Given the description of an element on the screen output the (x, y) to click on. 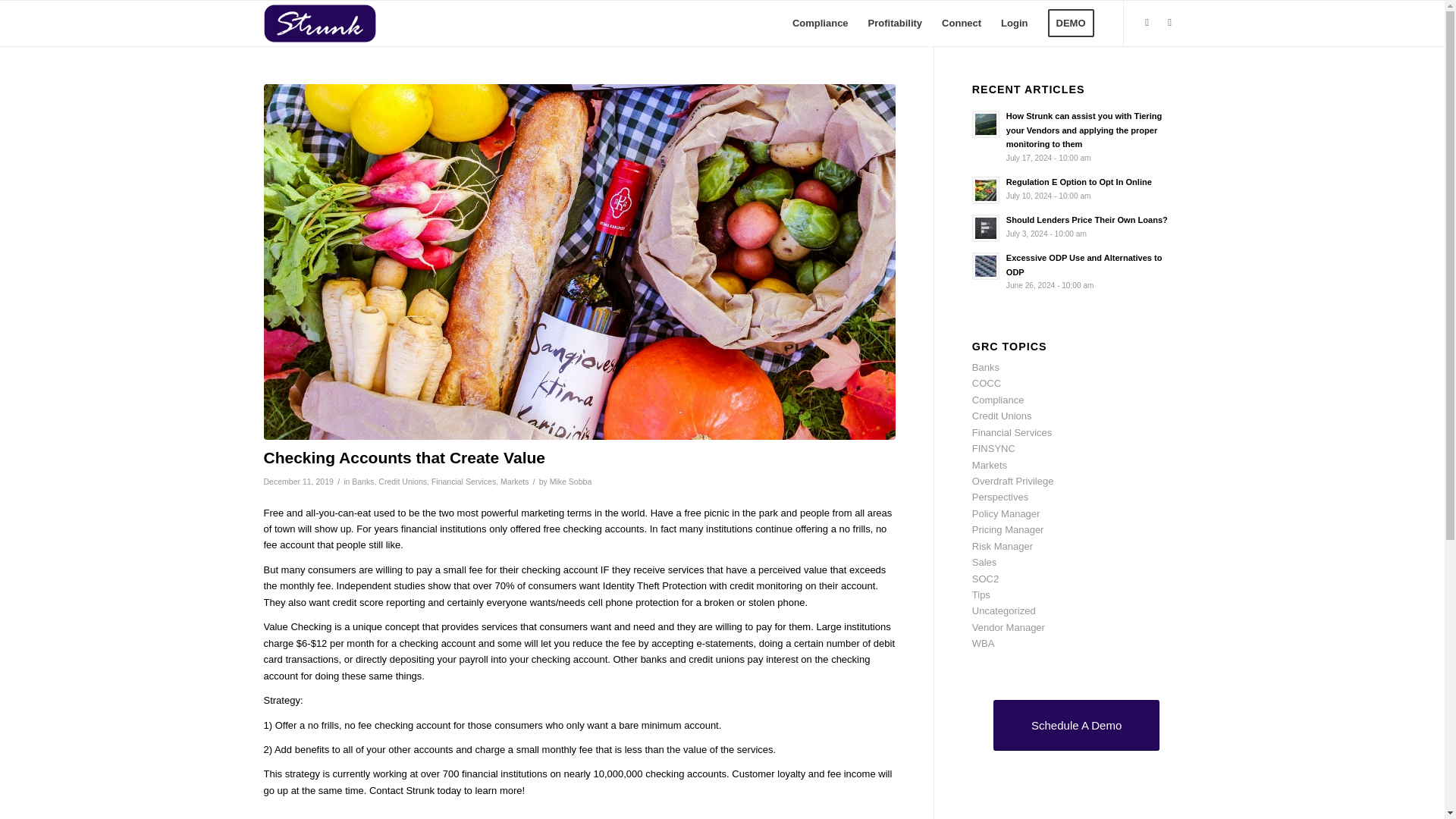
COCC (986, 383)
LinkedIn (1169, 22)
Compliance (998, 399)
Credit Unions (402, 481)
Banks (985, 367)
Connect (961, 22)
Mike Sobba (571, 481)
Markets (514, 481)
Profitability (896, 22)
DEMO (1069, 22)
X (1146, 22)
